Given the description of an element on the screen output the (x, y) to click on. 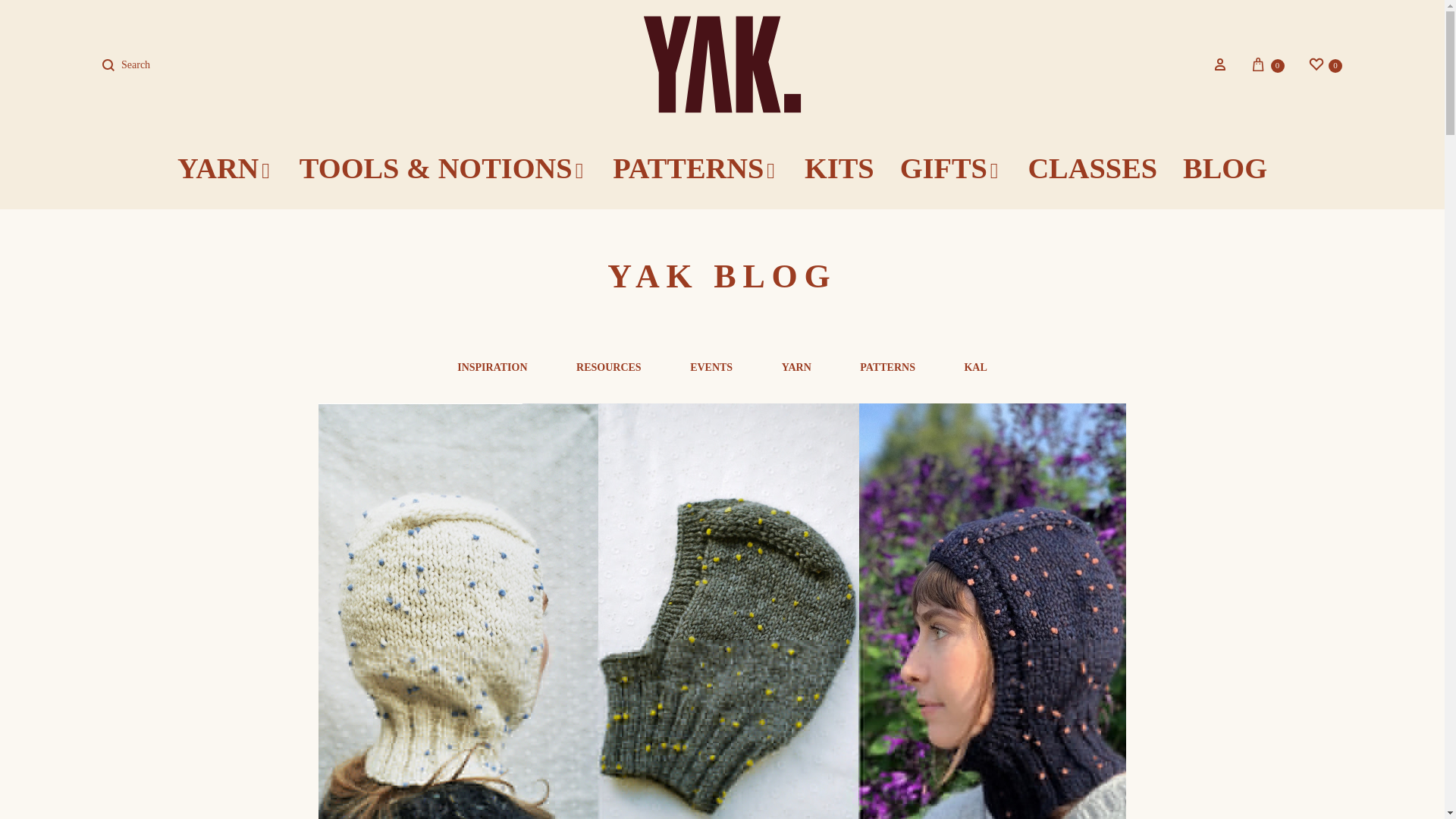
Sign in (1219, 63)
YARN (1266, 63)
